Given the description of an element on the screen output the (x, y) to click on. 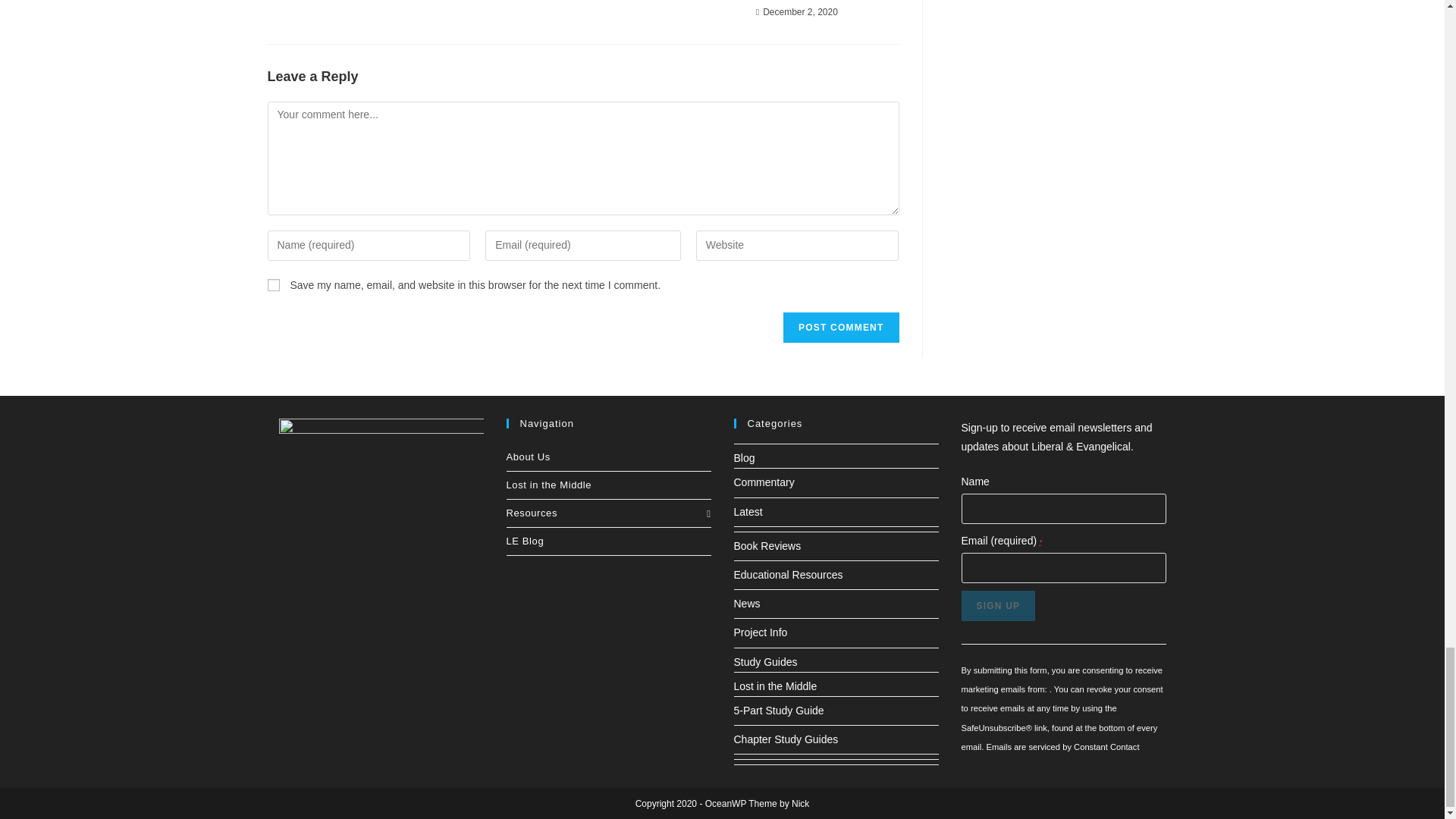
Sign up (997, 605)
Post Comment (840, 327)
Post Comment (840, 327)
yes (272, 285)
